Given the description of an element on the screen output the (x, y) to click on. 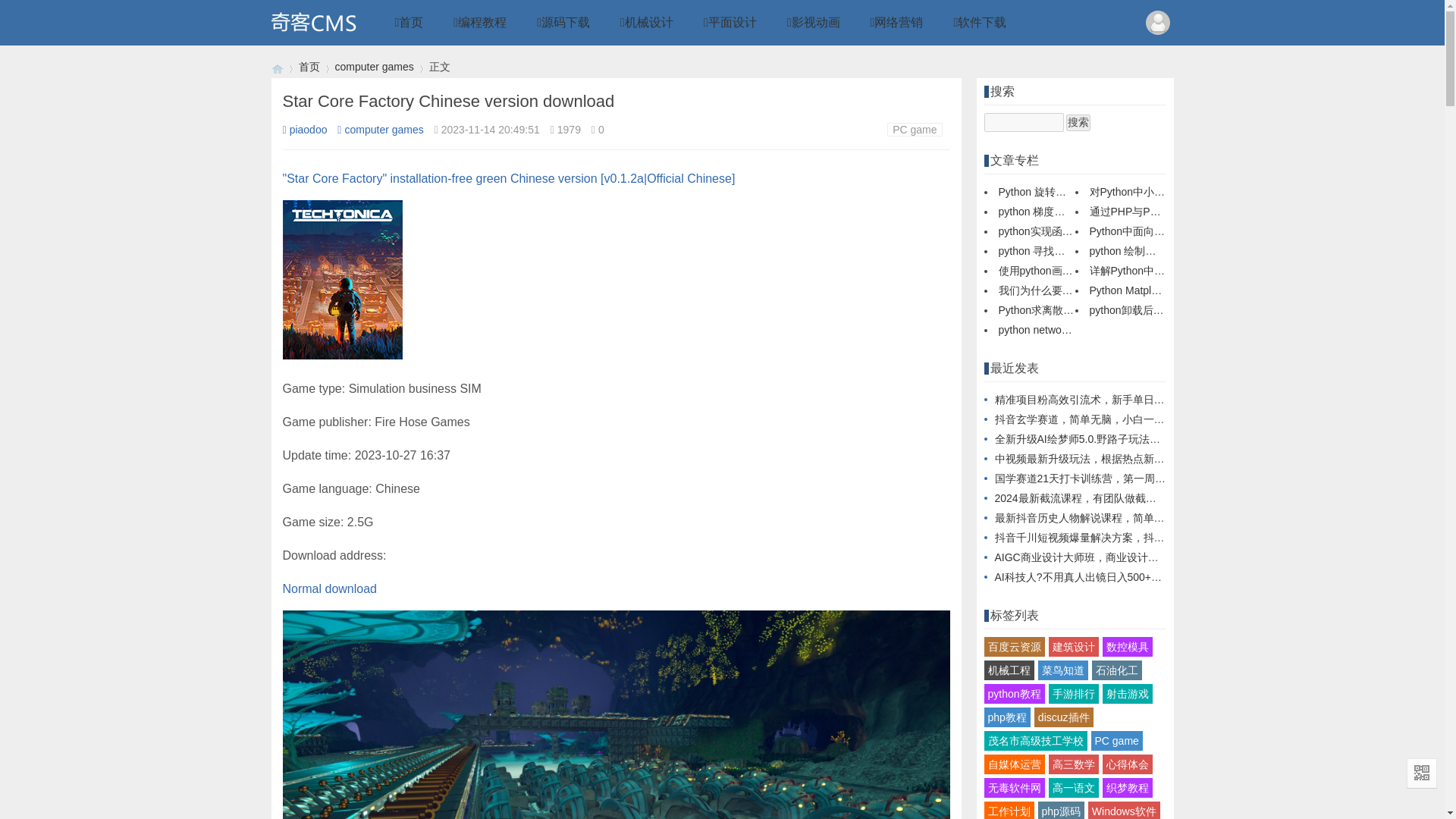
computer games (373, 66)
